Given the description of an element on the screen output the (x, y) to click on. 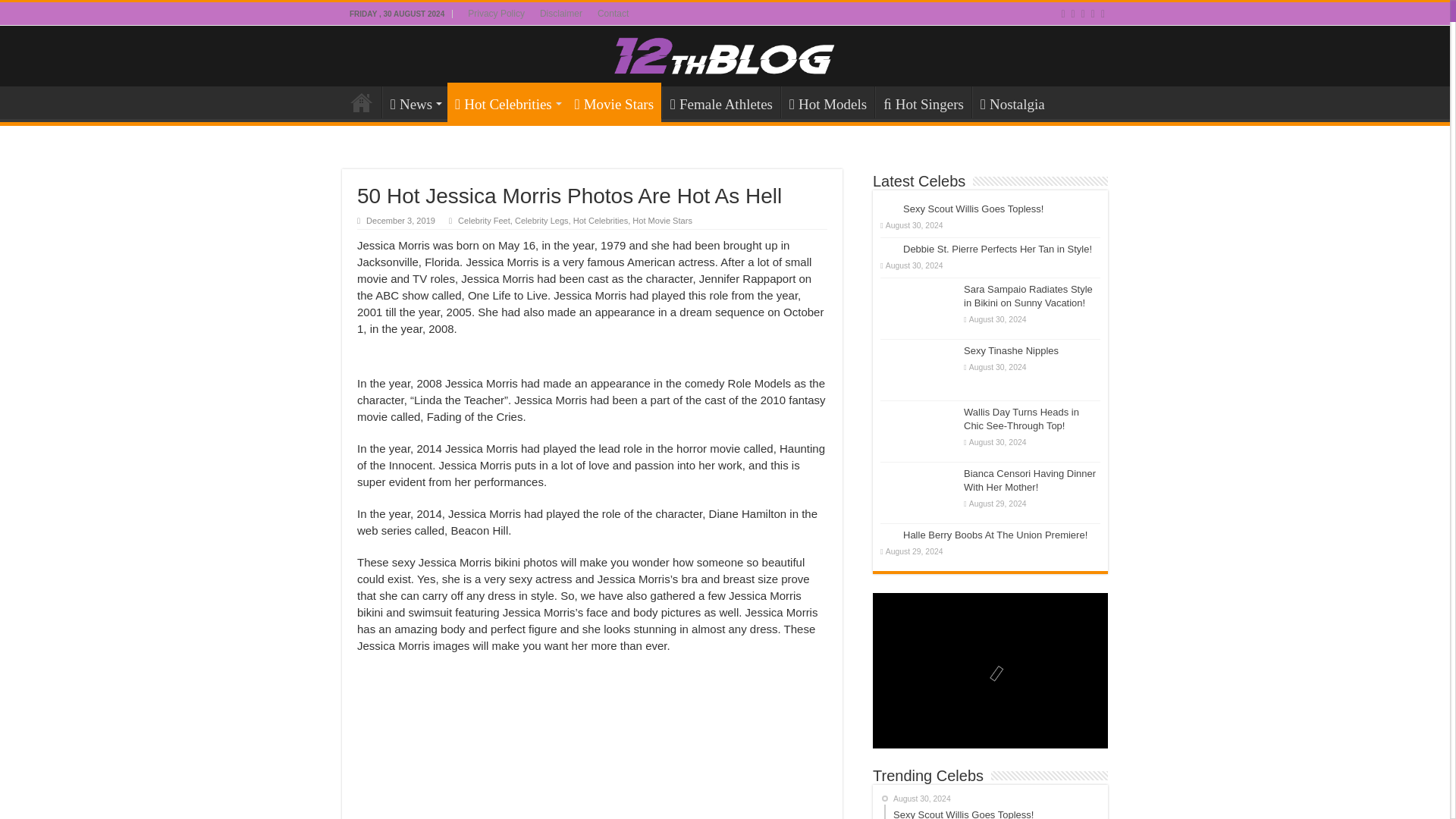
News (413, 101)
12thBlog (724, 54)
Home (361, 101)
Privacy Policy (496, 13)
Hot Celebrities (506, 102)
Home (361, 101)
Disclaimer (560, 13)
Contact (612, 13)
